Given the description of an element on the screen output the (x, y) to click on. 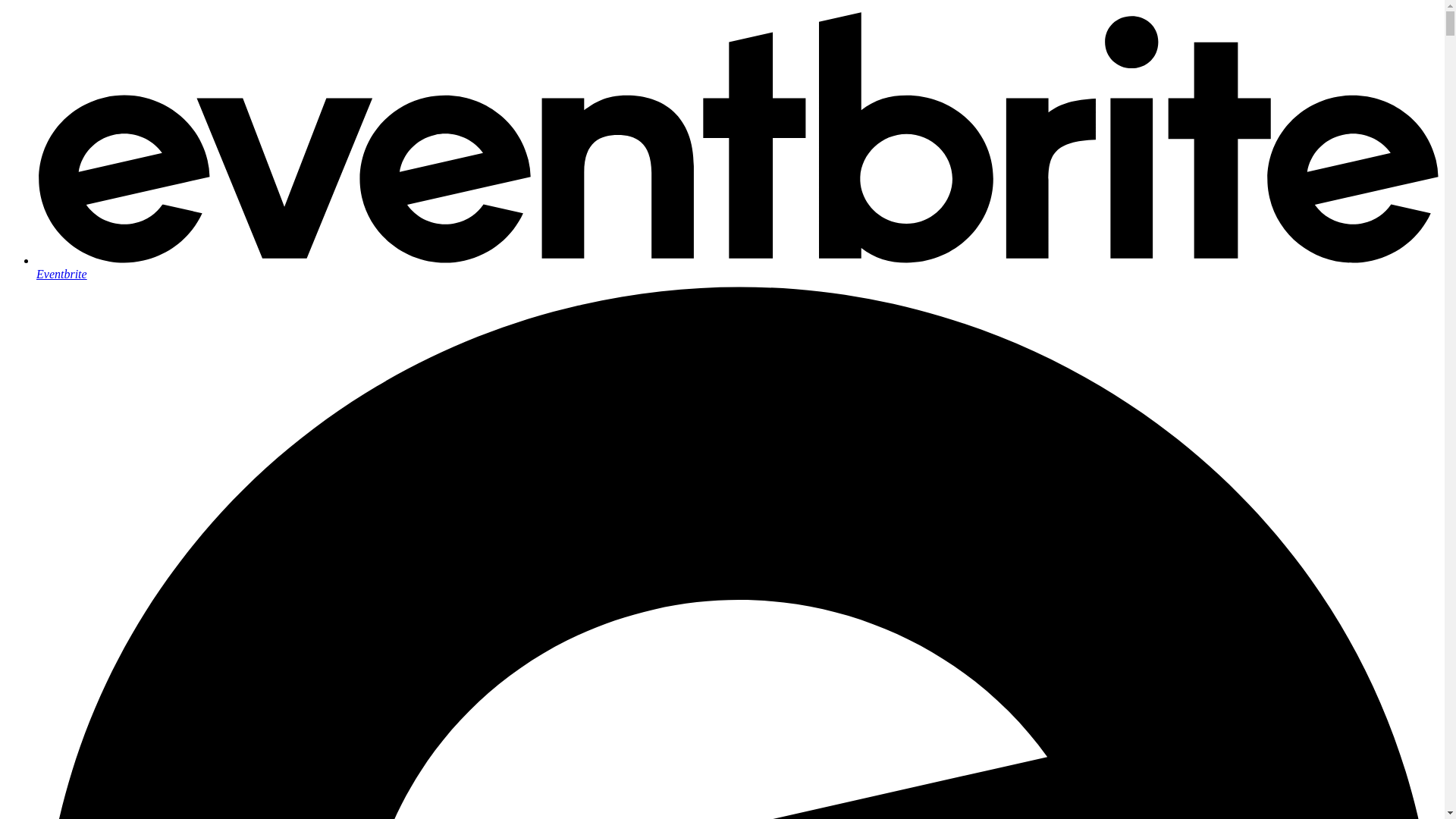
Eventbrite Element type: text (737, 267)
